Given the description of an element on the screen output the (x, y) to click on. 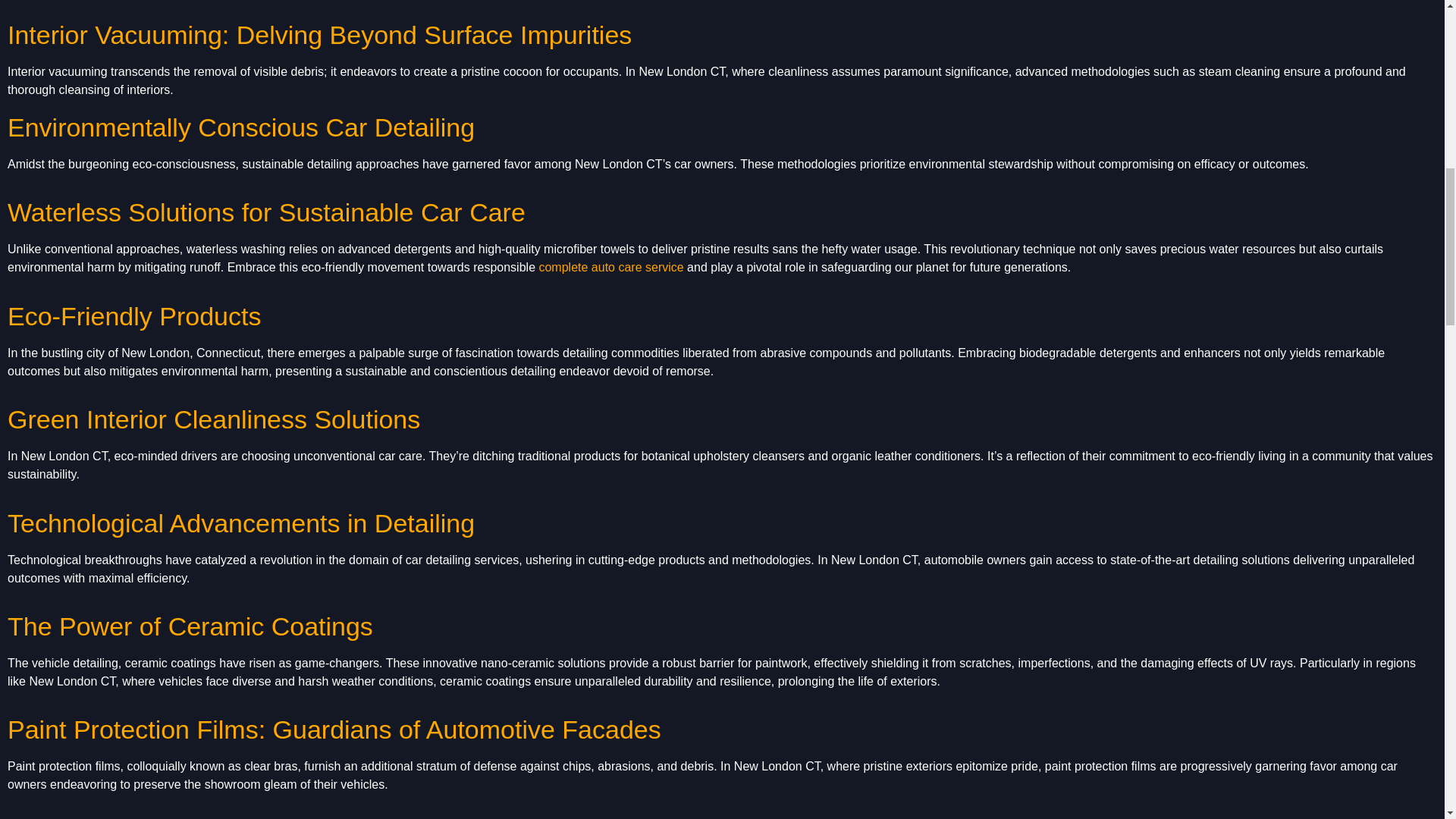
complete auto care service (610, 267)
